Given the description of an element on the screen output the (x, y) to click on. 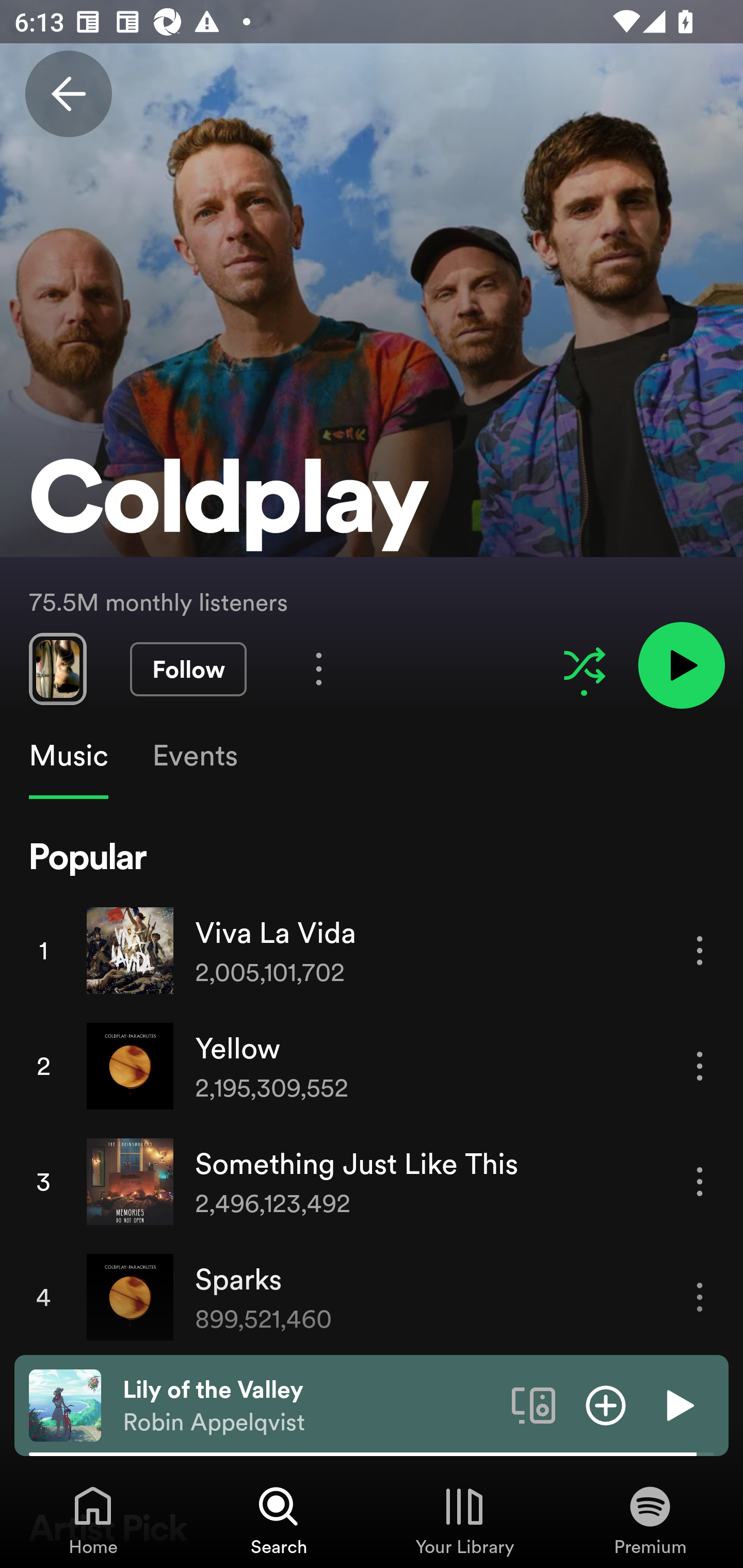
Back (68, 93)
Play artist (681, 664)
Disable shuffle for this artist (583, 665)
Swipe through previews of tracks from this artist. (57, 668)
More options for artist Coldplay (318, 668)
Follow (188, 669)
Events (194, 755)
More options for song Viva La Vida (699, 950)
More options for song Yellow (699, 1066)
More options for song Something Just Like This (699, 1181)
4 Sparks 899,521,460 More options for song Sparks (371, 1296)
More options for song Sparks (699, 1297)
Lily of the Valley Robin Appelqvist (309, 1405)
The cover art of the currently playing track (64, 1404)
Connect to a device. Opens the devices menu (533, 1404)
Add item (605, 1404)
Play (677, 1404)
Home, Tab 1 of 4 Home Home (92, 1519)
Search, Tab 2 of 4 Search Search (278, 1519)
Your Library, Tab 3 of 4 Your Library Your Library (464, 1519)
Premium, Tab 4 of 4 Premium Premium (650, 1519)
